Given the description of an element on the screen output the (x, y) to click on. 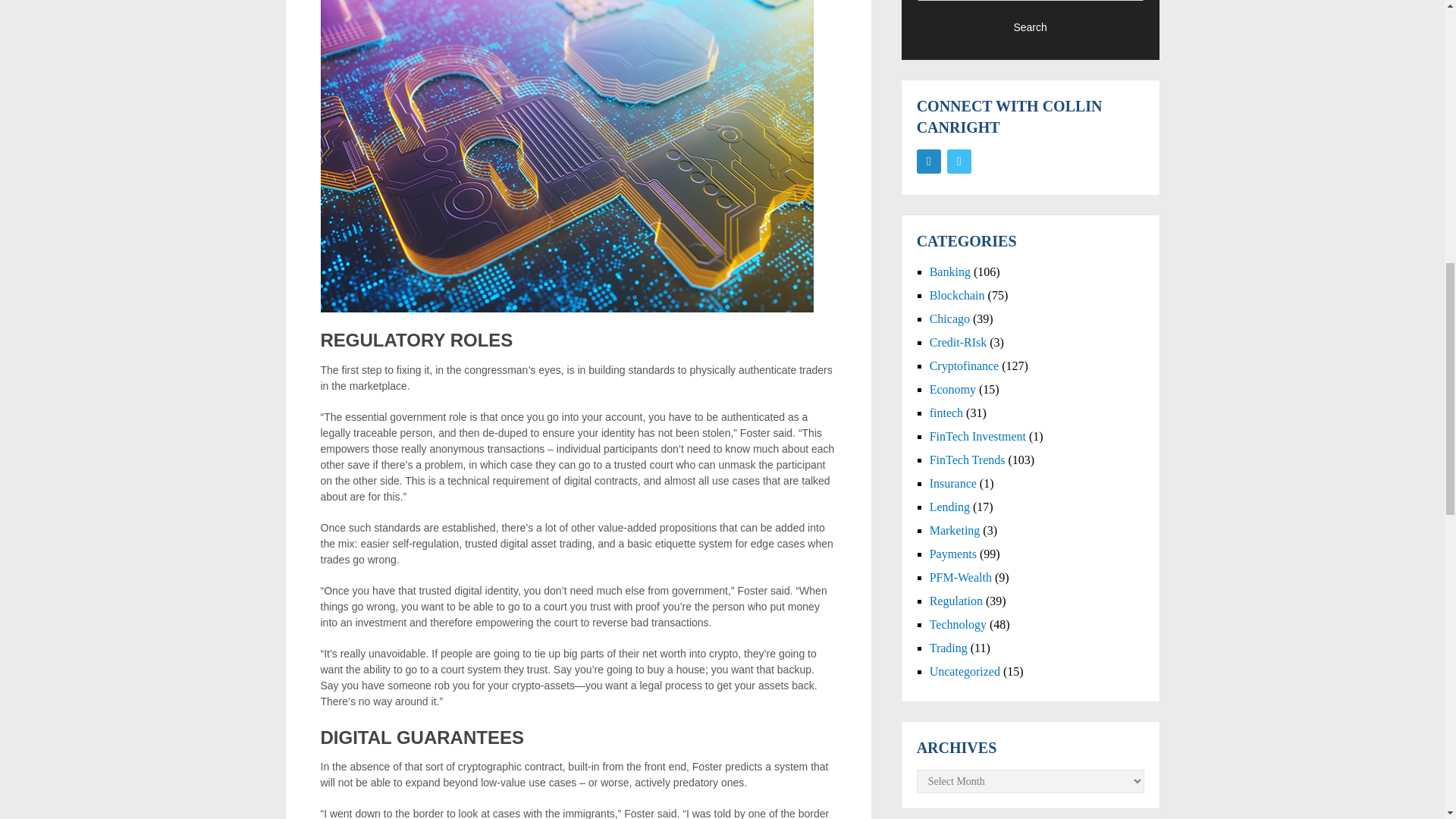
LinkedIn (928, 161)
Twitter (959, 161)
